Given the description of an element on the screen output the (x, y) to click on. 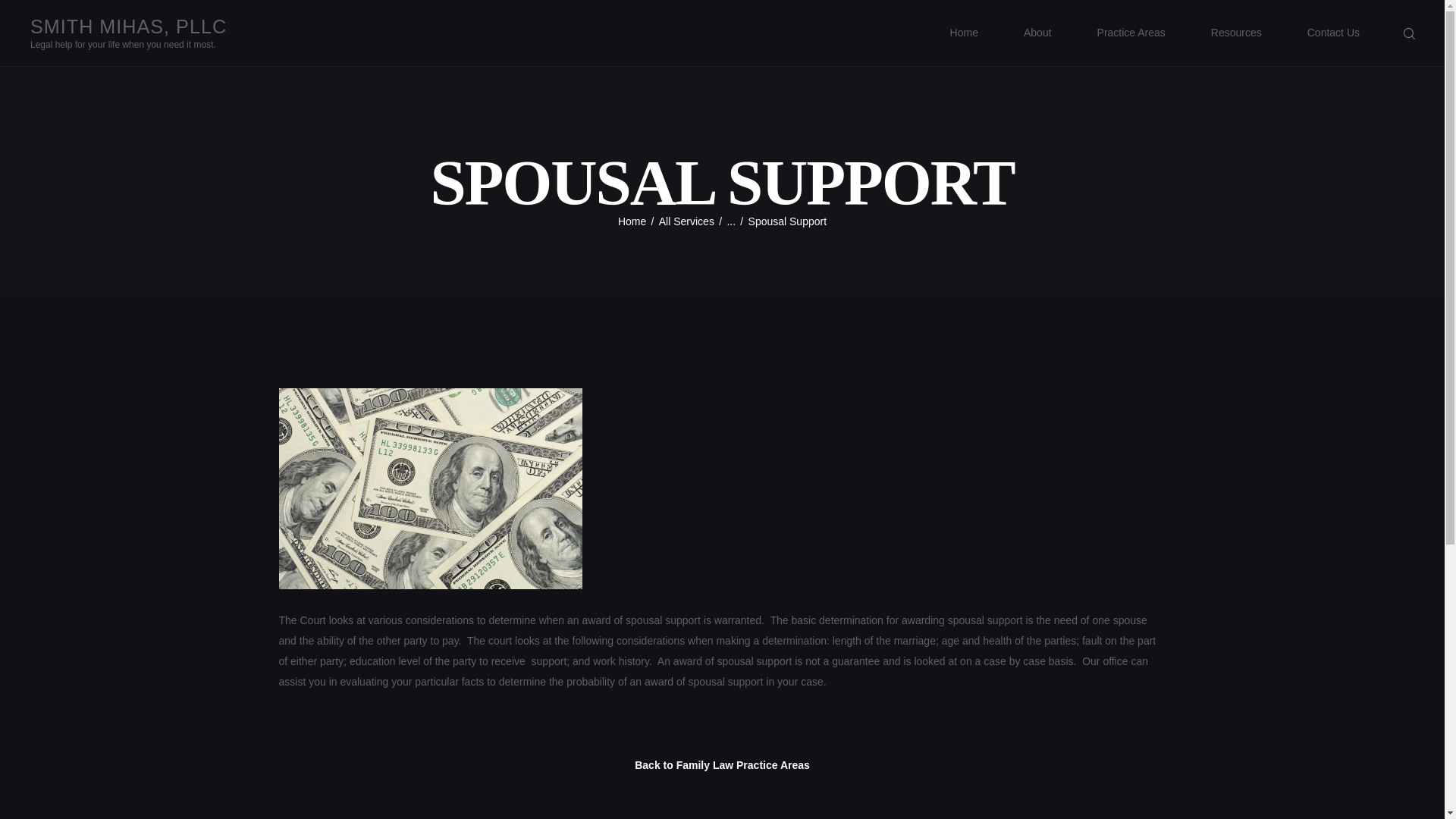
All Services (686, 221)
Resources (1236, 32)
Practice Areas (1131, 32)
Home (964, 32)
Contact Us (1332, 32)
About (1037, 32)
Home (631, 221)
